Given the description of an element on the screen output the (x, y) to click on. 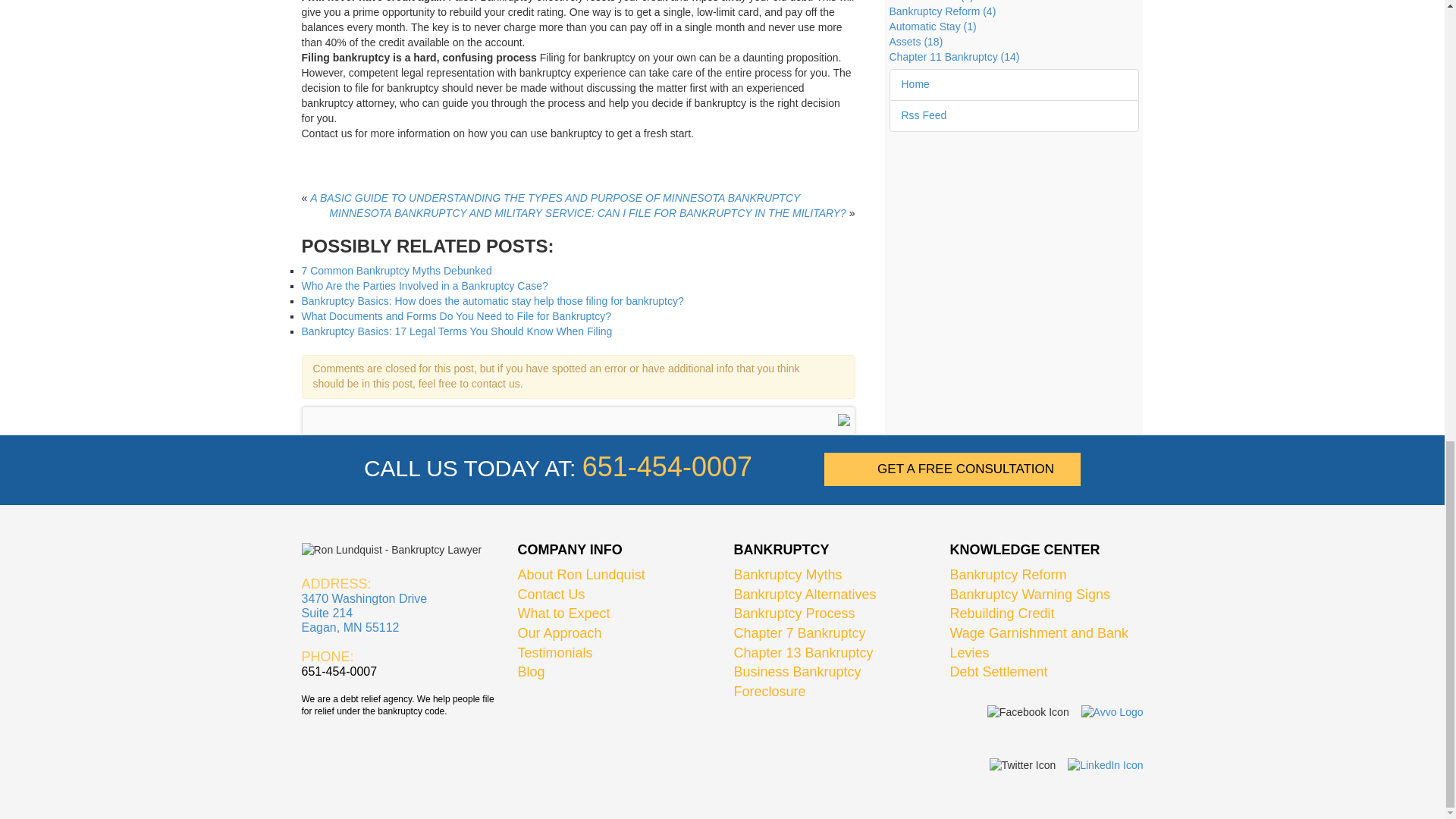
Previous post (554, 197)
Next Post (587, 213)
